Given the description of an element on the screen output the (x, y) to click on. 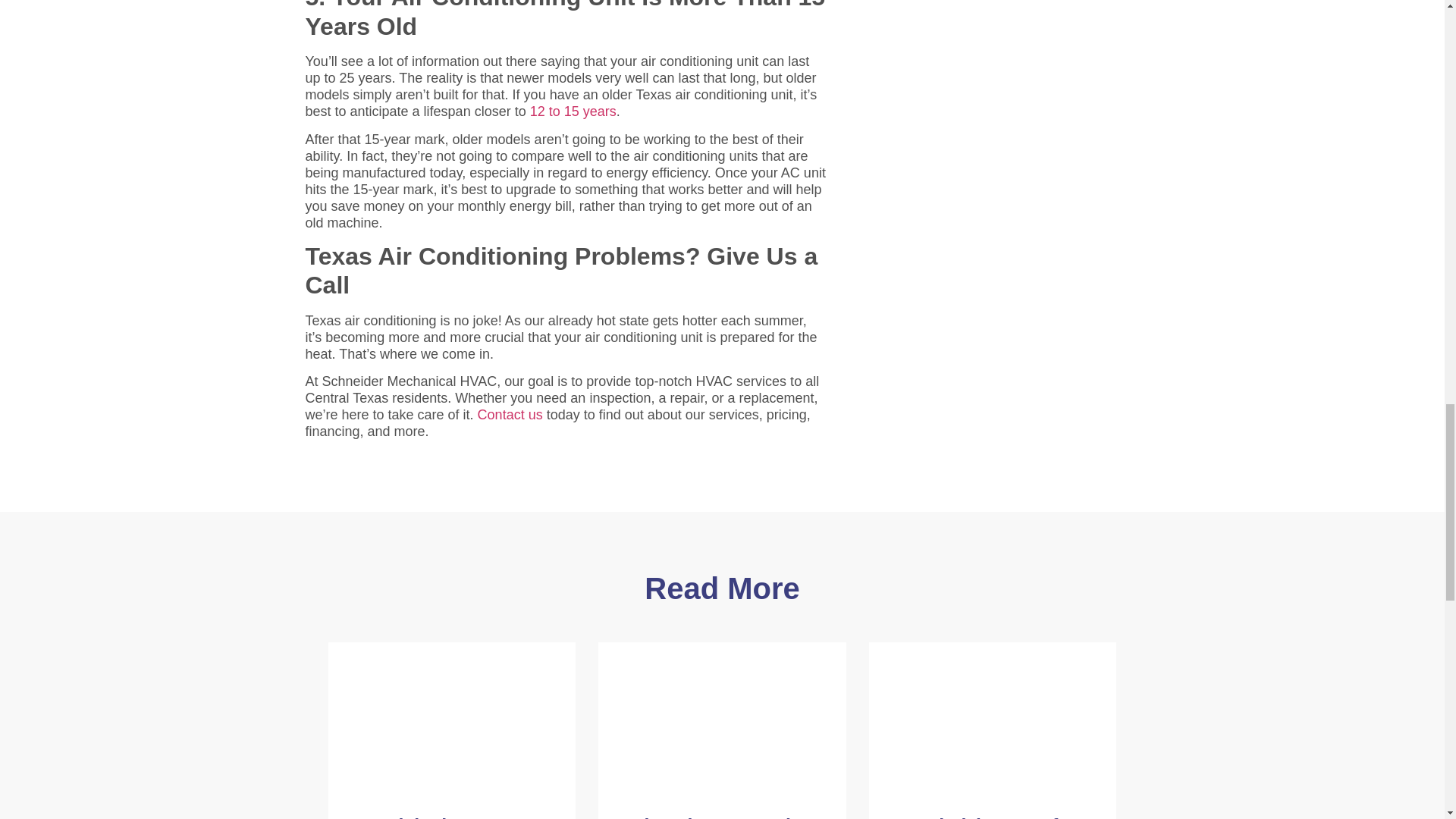
Contact us (510, 414)
12 to 15 years (572, 111)
